Given the description of an element on the screen output the (x, y) to click on. 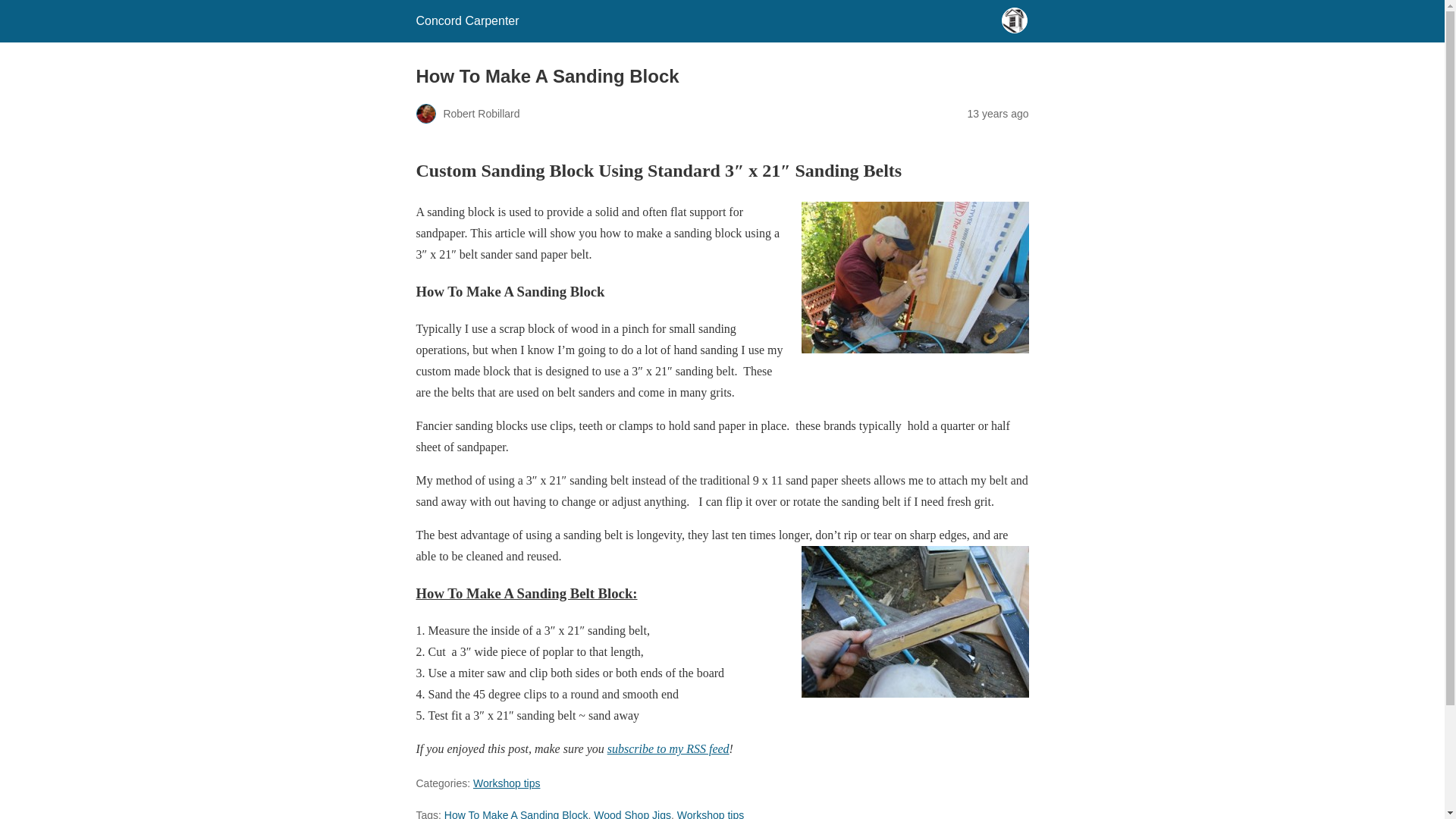
Workshop tips (710, 814)
sanding block (913, 621)
Wood Shop Jigs (632, 814)
Concord Carpenter (466, 20)
Workshop tips (506, 783)
How To Make A Sanding Block (516, 814)
subscribe to my RSS feed (668, 748)
sanding block (913, 276)
